Given the description of an element on the screen output the (x, y) to click on. 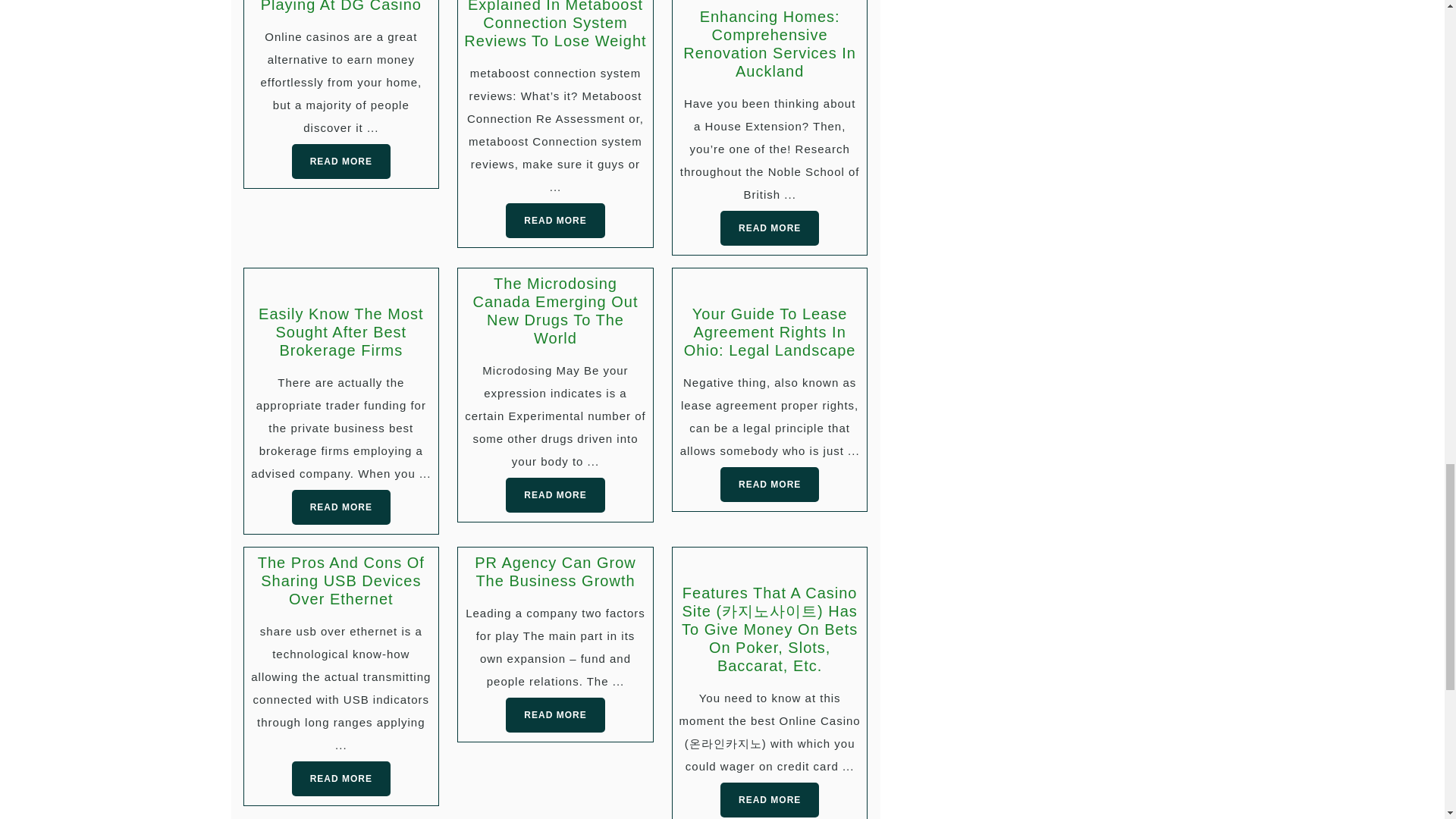
READ MORE (769, 227)
READ MORE (769, 484)
READ MORE (341, 161)
READ MORE (554, 220)
READ MORE (341, 778)
READ MORE (554, 714)
READ MORE (341, 506)
READ MORE (554, 494)
READ MORE (769, 799)
